Given the description of an element on the screen output the (x, y) to click on. 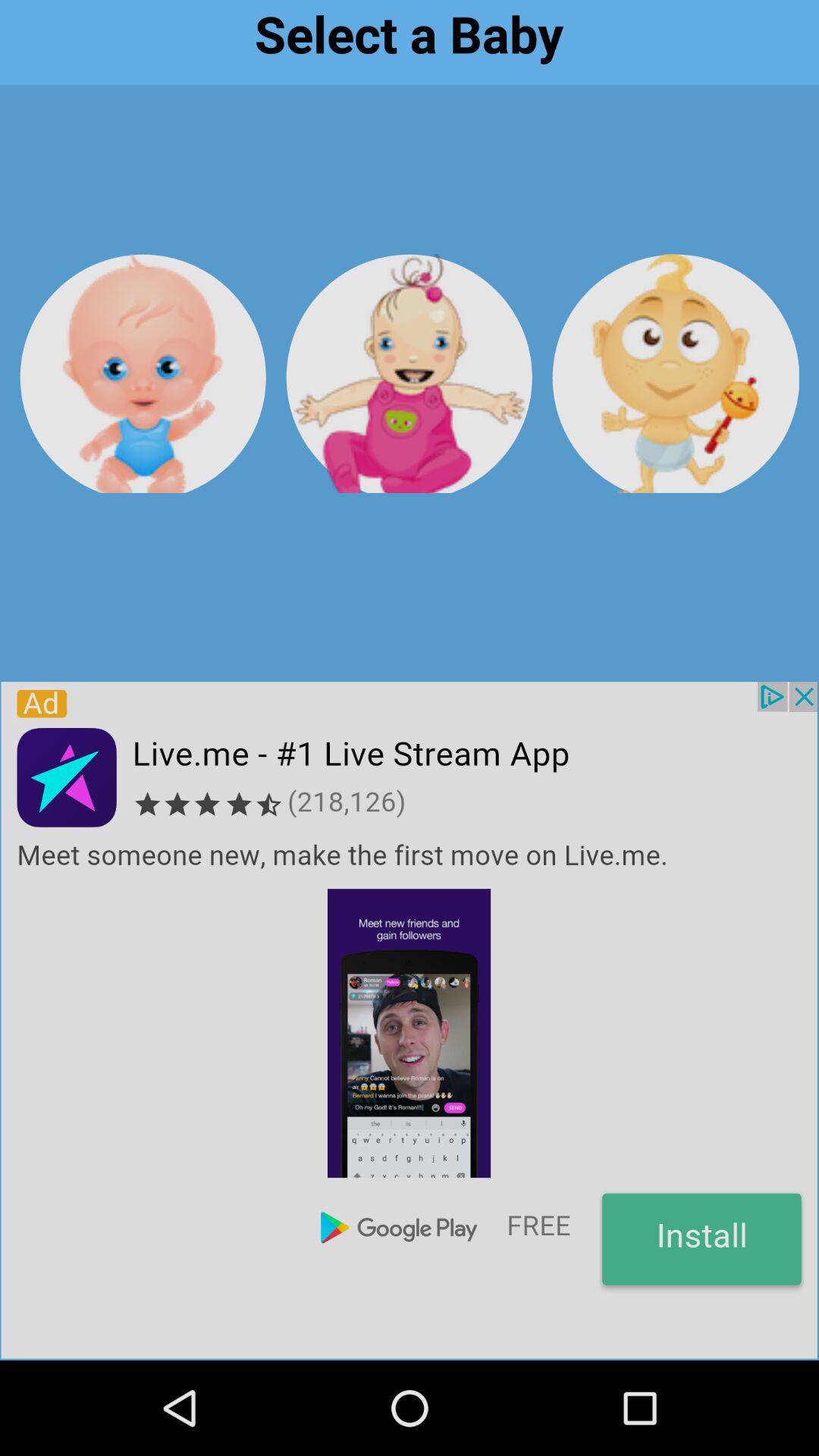
choose baby (409, 373)
